Given the description of an element on the screen output the (x, y) to click on. 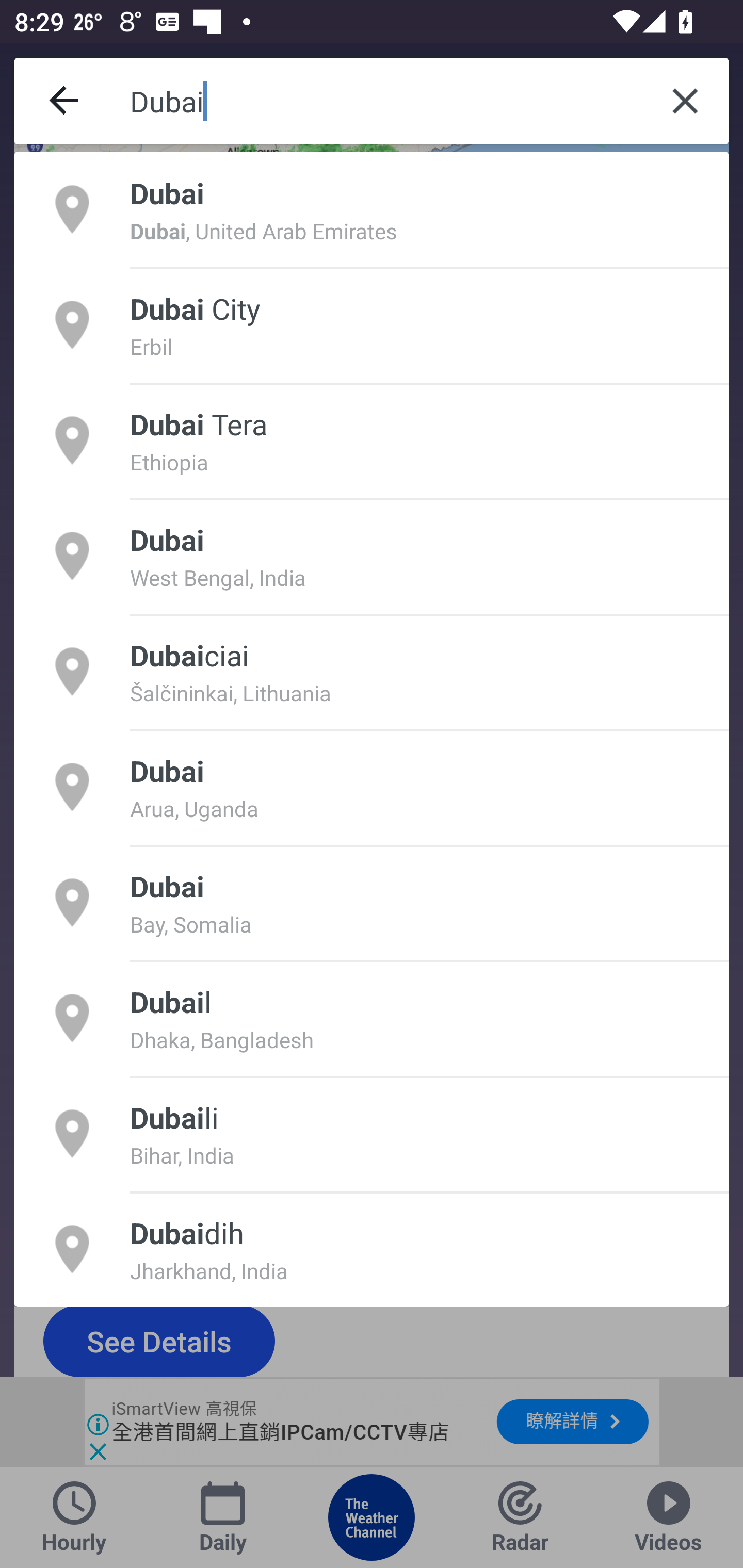
Back (64, 101)
Clear (684, 101)
Dubai (385, 100)
Dubai Dubai, United Arab Emirates (371, 209)
Dubai City Erbil (371, 324)
Dubai Tera Ethiopia (371, 440)
Dubai West Bengal, India (371, 555)
Dubaiciai Šalčininkai, Lithuania (371, 671)
Dubai Arua, Uganda (371, 787)
Dubai Bay, Somalia (371, 902)
Dubail Dhaka, Bangladesh (371, 1017)
Dubaili Bihar, India (371, 1133)
Dubaidih Jharkhand, India (371, 1249)
